Given the description of an element on the screen output the (x, y) to click on. 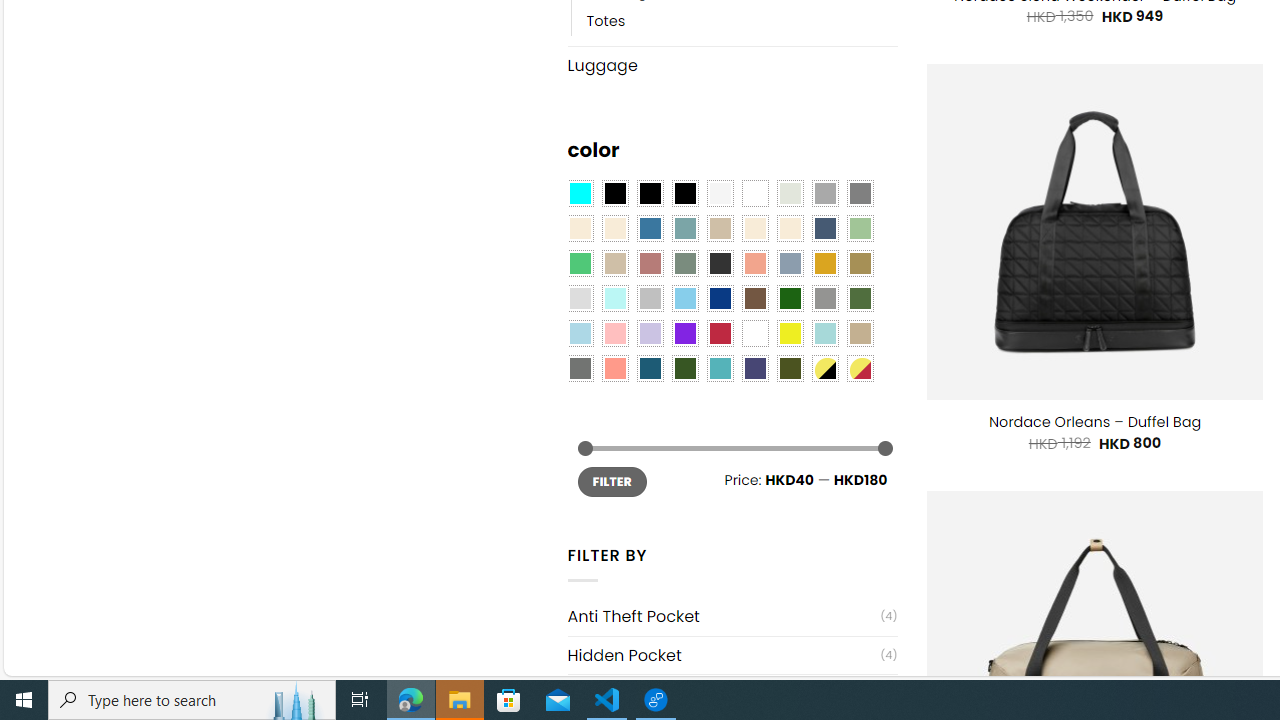
Beige (579, 228)
Yellow (789, 334)
Silver (650, 298)
Dark Green (789, 298)
Peach Pink (614, 368)
All Gray (859, 193)
Light Purple (650, 334)
Beige-Brown (614, 228)
Light Green (859, 228)
Green (859, 298)
Purple (684, 334)
Capri Blue (650, 368)
Clear (755, 193)
Caramel (755, 228)
